Given the description of an element on the screen output the (x, y) to click on. 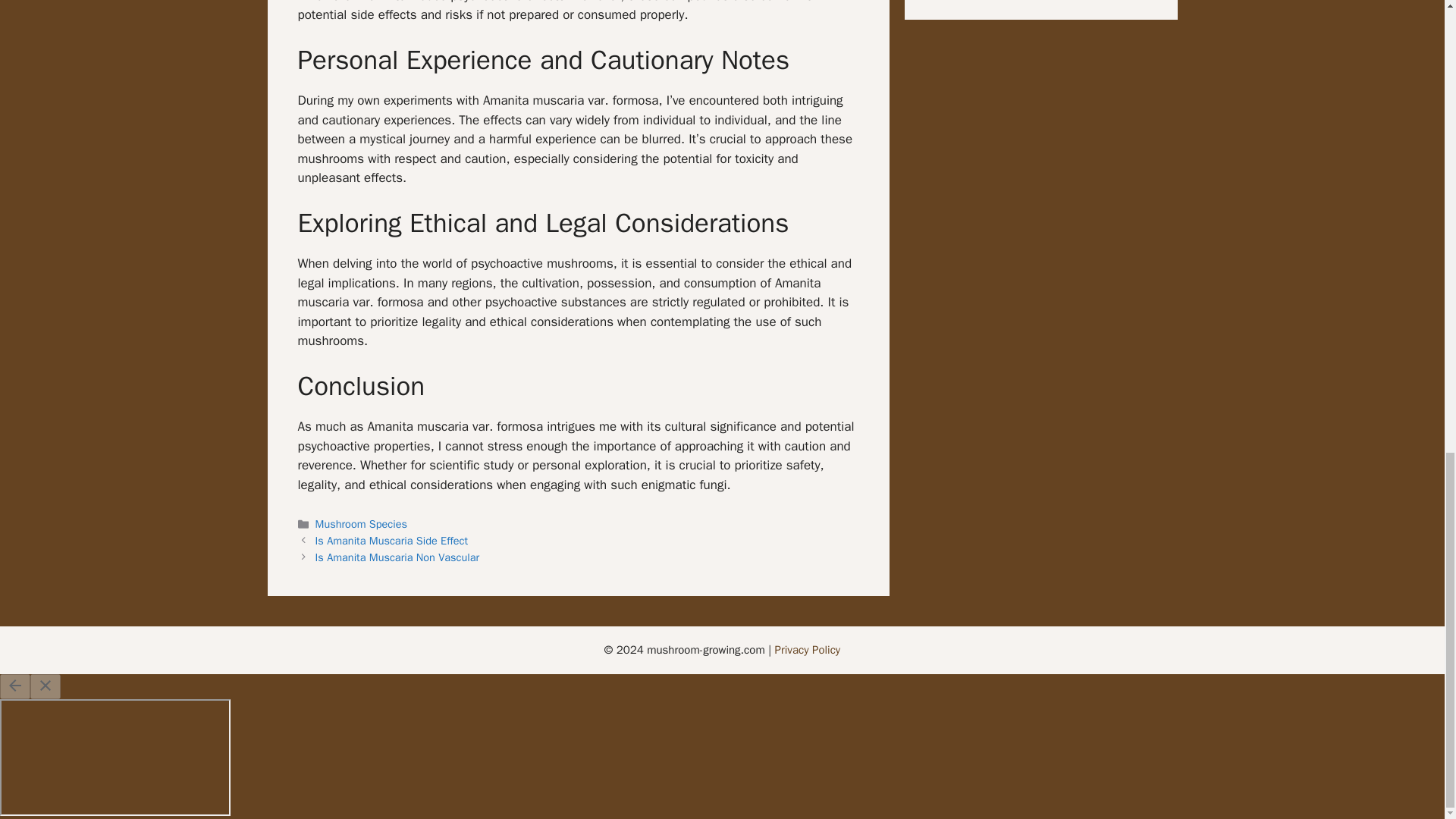
Privacy Policy (807, 649)
Is Amanita Muscaria Non Vascular (397, 557)
Mushroom Species (361, 523)
Is Amanita Muscaria Side Effect (391, 540)
